Given the description of an element on the screen output the (x, y) to click on. 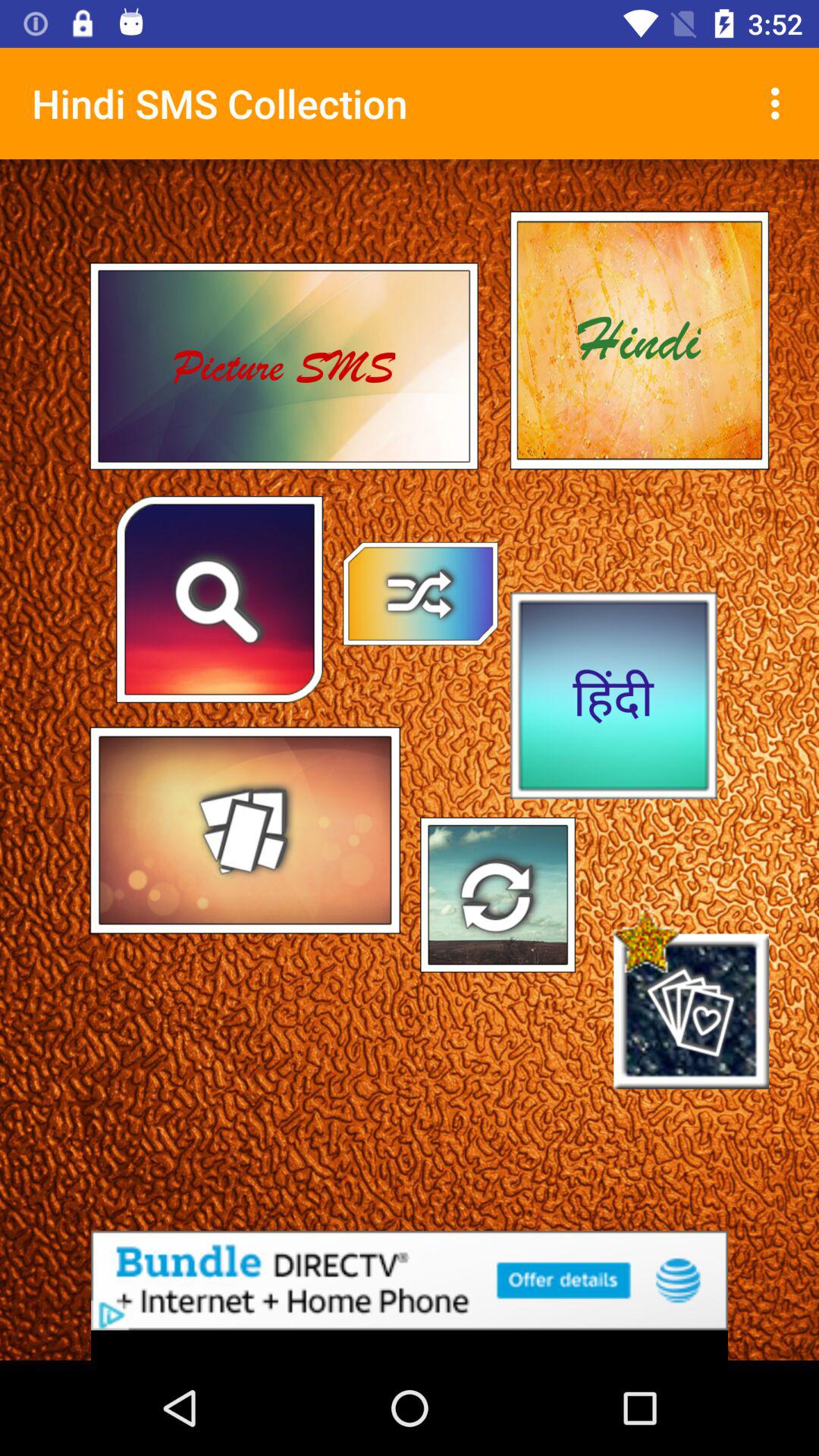
go to the advertised site (409, 1280)
